Given the description of an element on the screen output the (x, y) to click on. 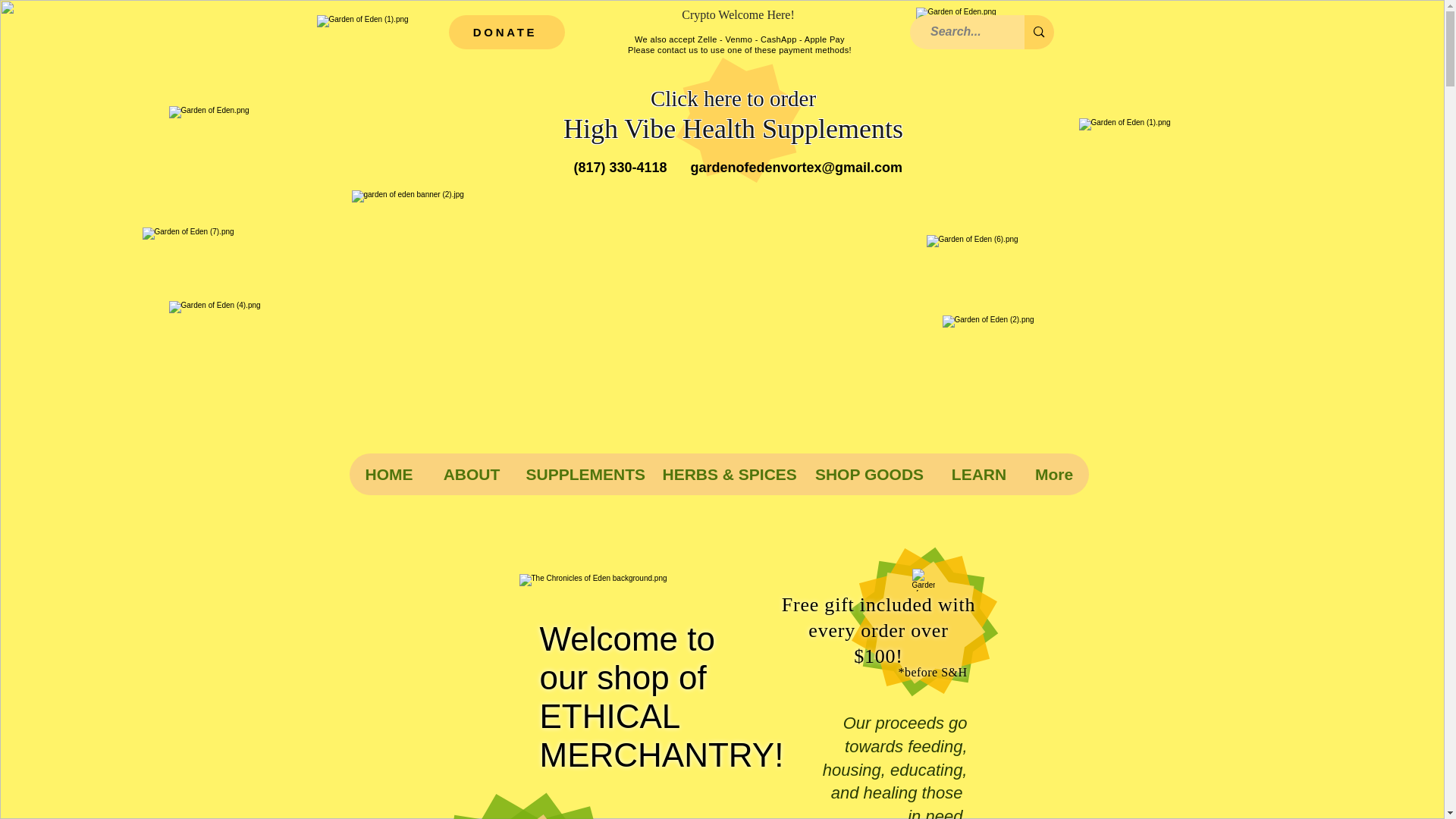
SUPPLEMENTS (581, 474)
Click here to order (732, 98)
HOME (388, 474)
High Vibe Health Supplements (732, 128)
